Given the description of an element on the screen output the (x, y) to click on. 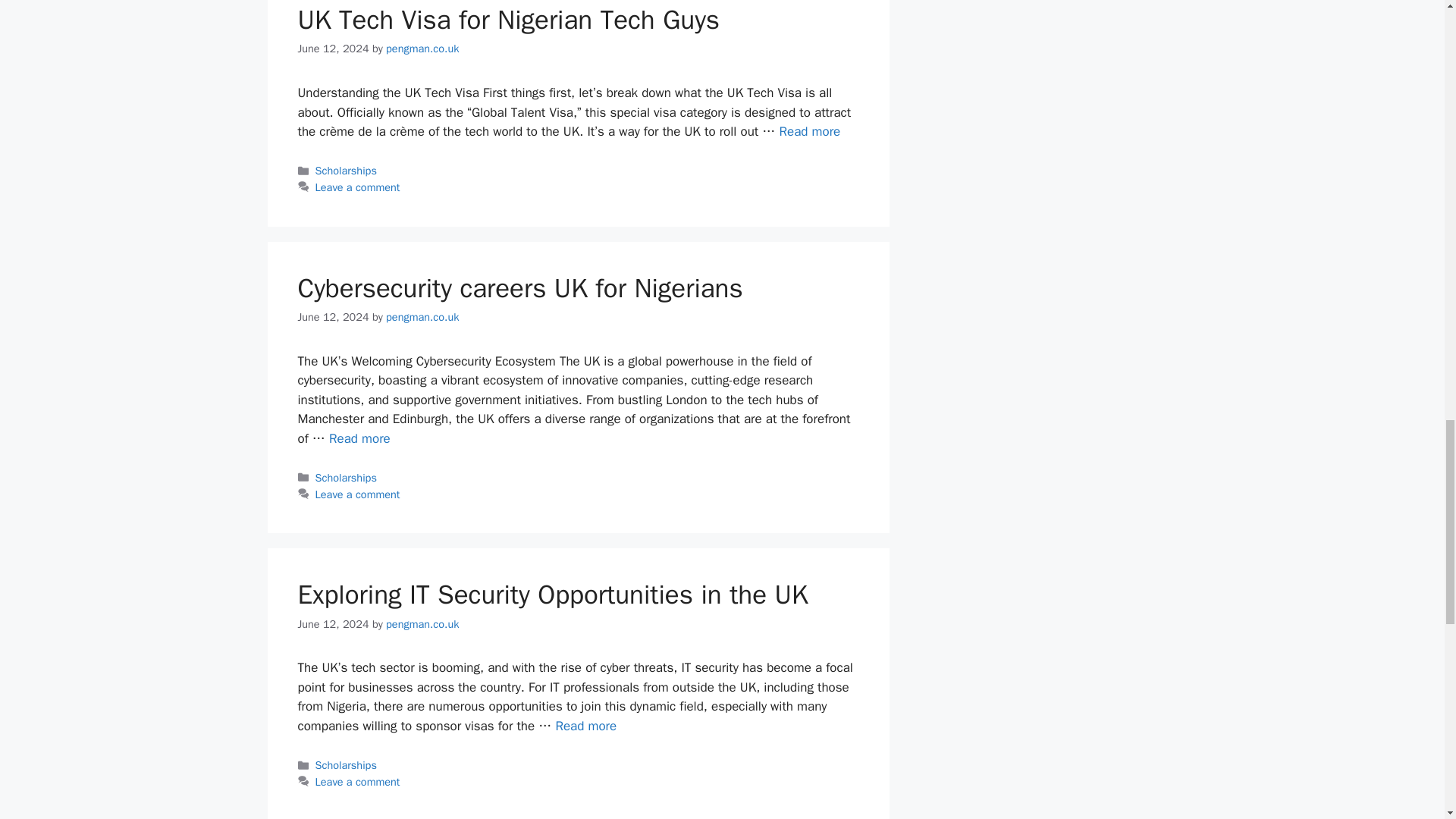
Read more (809, 131)
UK Tech Visa for Nigerian Tech Guys (508, 19)
UK Tech Visa for Nigerian Tech Guys (809, 131)
View all posts by pengman.co.uk (421, 48)
View all posts by pengman.co.uk (421, 316)
Cybersecurity careers UK for Nigerians (359, 438)
pengman.co.uk (421, 48)
Exploring IT Security Opportunities in the UK (584, 725)
Scholarships (346, 170)
View all posts by pengman.co.uk (421, 623)
